Given the description of an element on the screen output the (x, y) to click on. 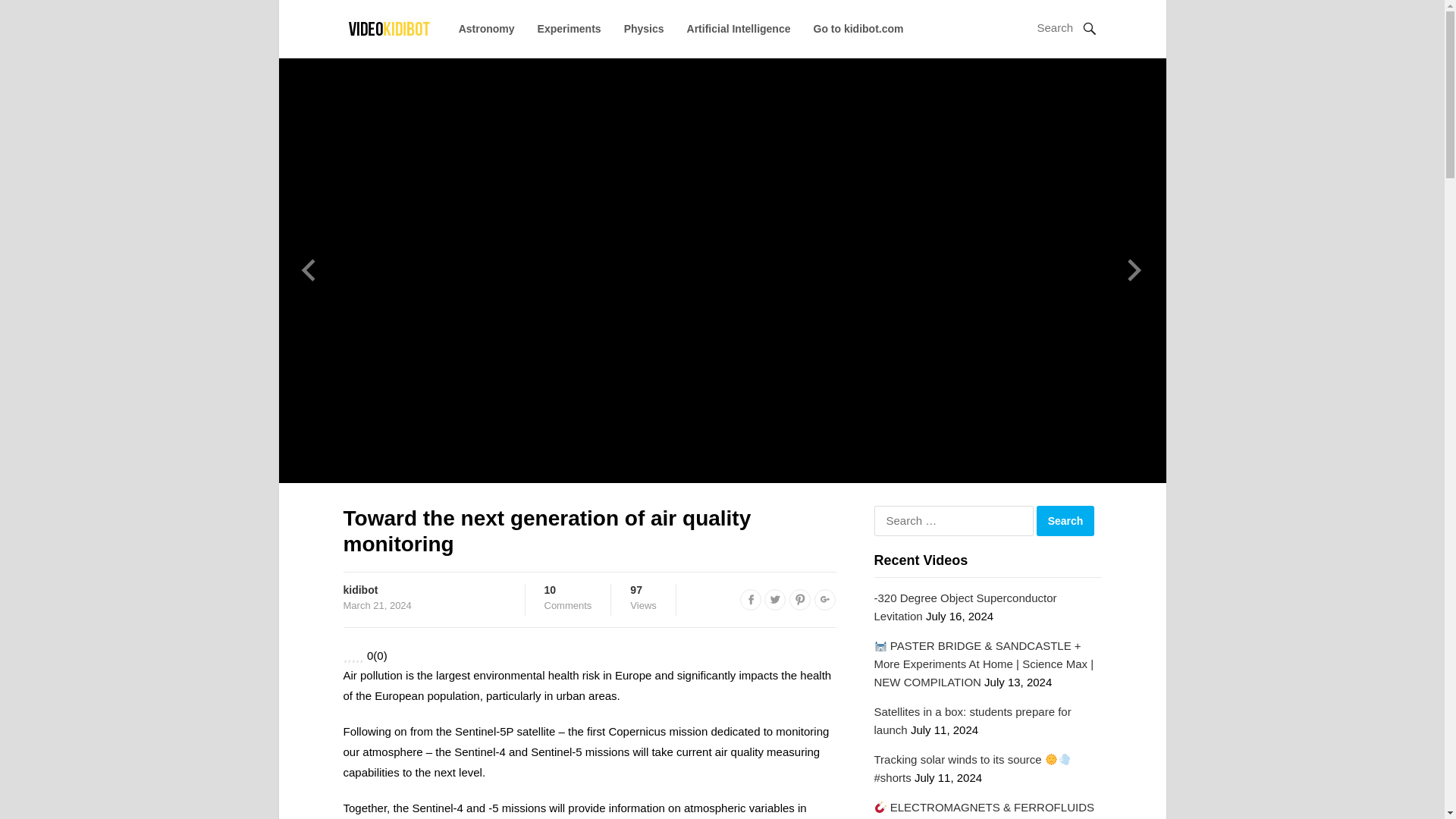
Posts by kidibot (359, 589)
kidibot (359, 589)
Share on Facebook (750, 599)
Search (1065, 521)
Share on Twitter (775, 599)
Share on Pinterest (799, 599)
Go to kidibot.com (857, 28)
Astronomy (486, 28)
Search (1065, 521)
Experiments (569, 28)
Artificial Intelligence (568, 596)
